Given the description of an element on the screen output the (x, y) to click on. 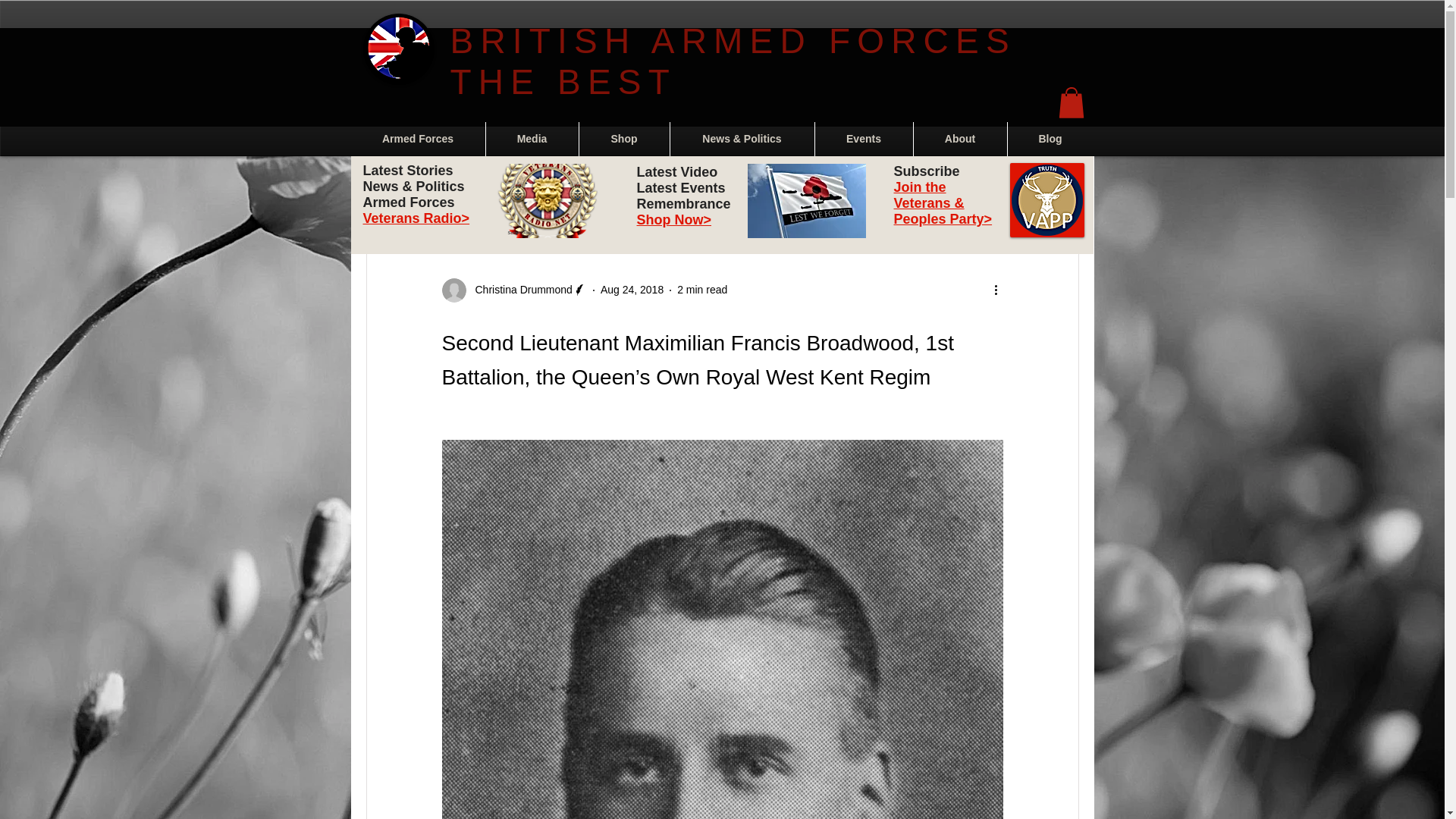
Events (862, 139)
All Posts (385, 186)
Aug 24, 2018 (631, 289)
Christina Drummond (518, 289)
Charities (768, 186)
Armed Forces (417, 139)
Blog (1050, 139)
Remembrance (525, 186)
News (448, 186)
Media (531, 139)
Shop (624, 139)
BRITISH ARMED FORCES THE BEST  (732, 61)
Events (604, 186)
About (959, 139)
2 min read (701, 289)
